Given the description of an element on the screen output the (x, y) to click on. 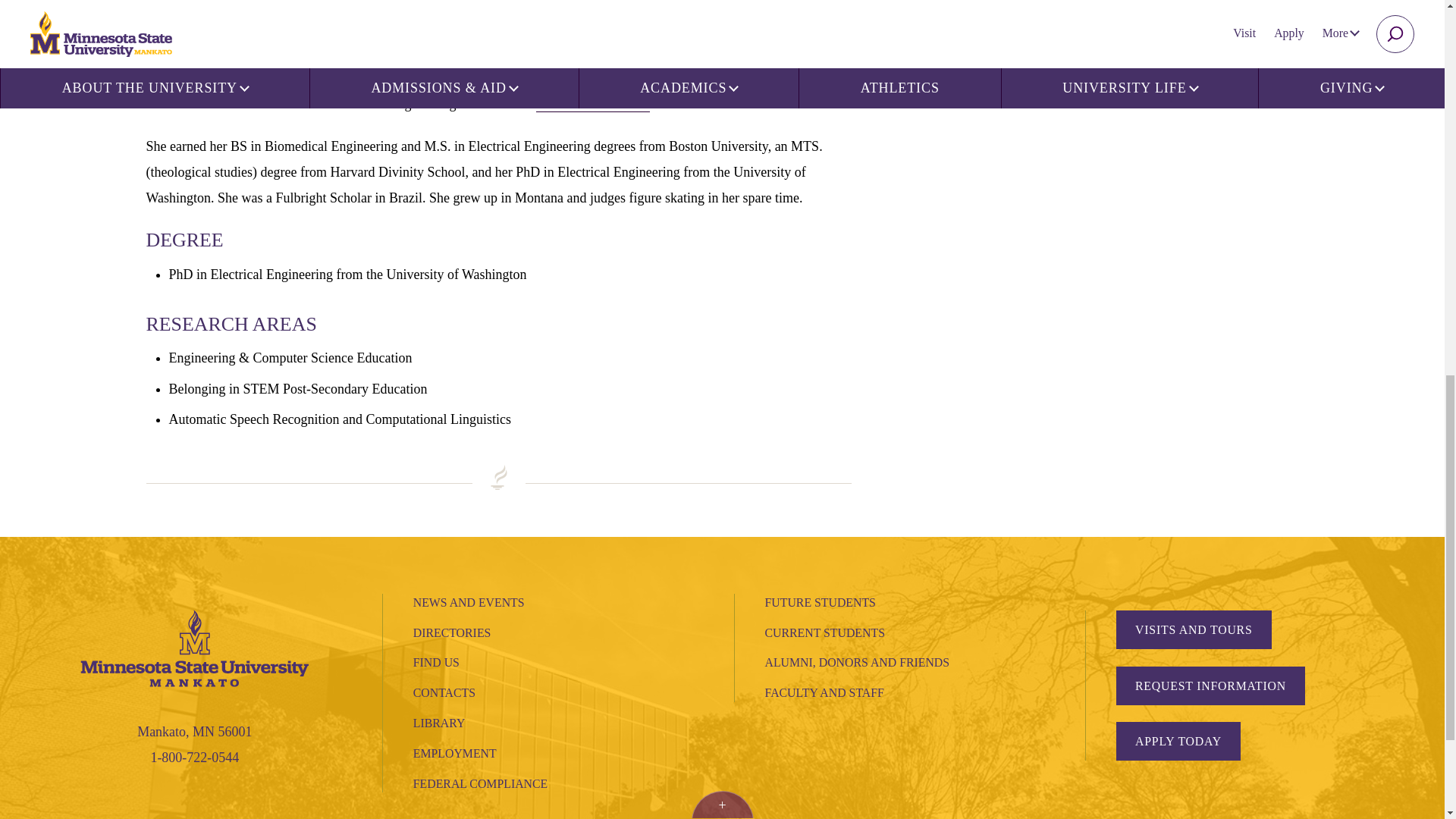
Minnesota State University, Mankato (194, 646)
Request Information (1210, 685)
Visit Campus (1193, 629)
